Given the description of an element on the screen output the (x, y) to click on. 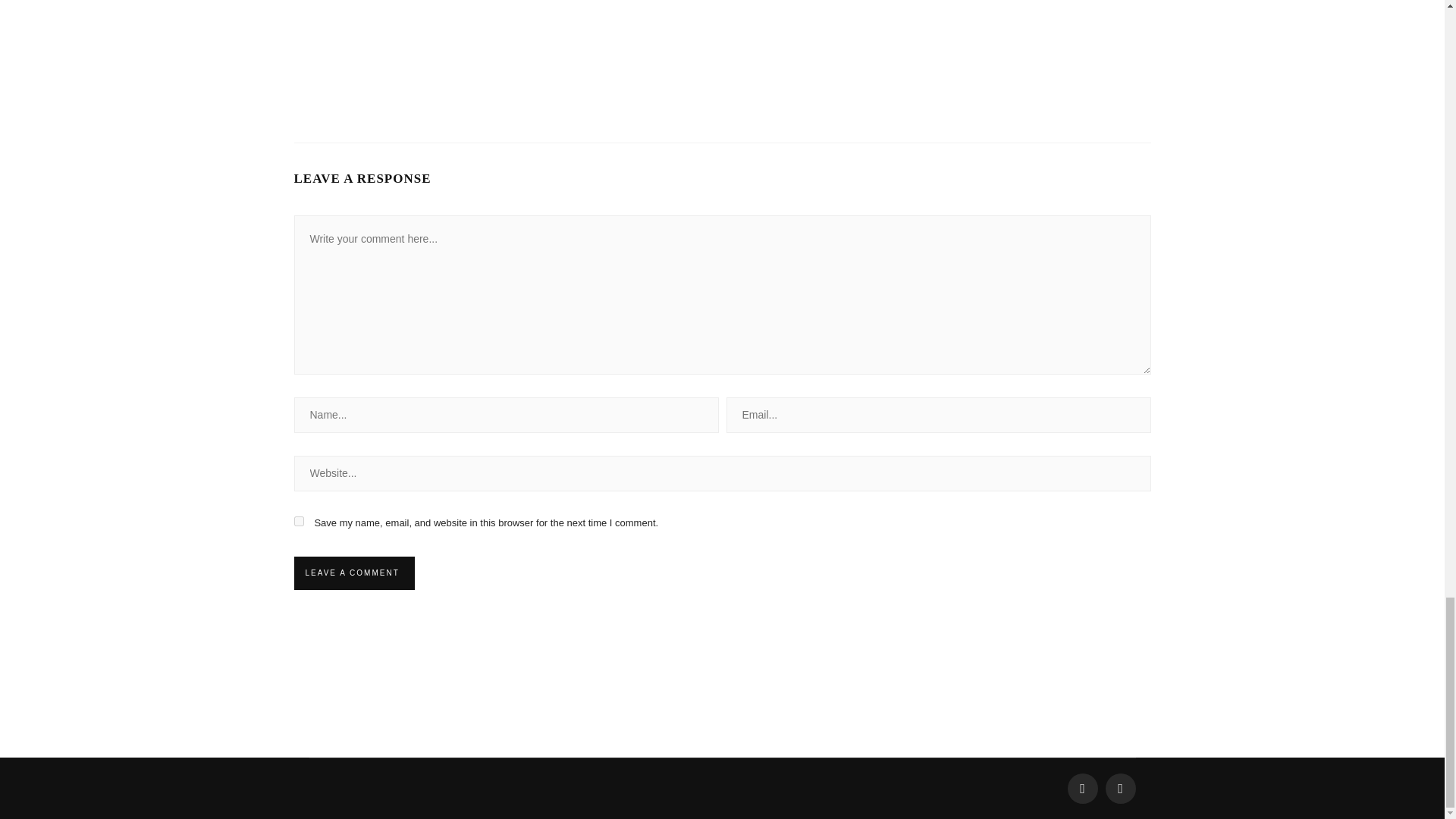
Leave a comment (351, 572)
yes (299, 521)
